Given the description of an element on the screen output the (x, y) to click on. 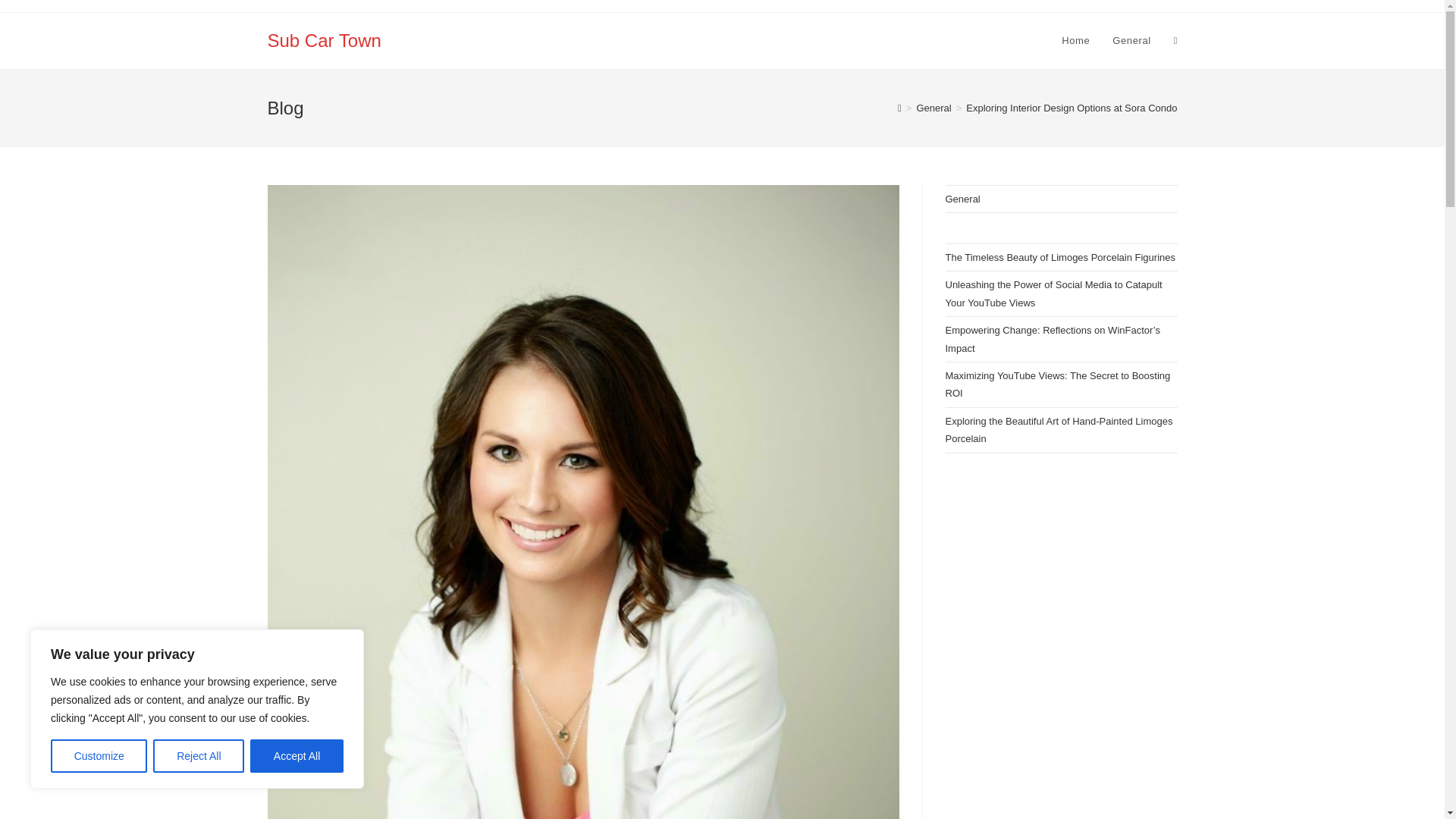
Sub Car Town (323, 40)
Customize (98, 756)
Accept All (296, 756)
General (932, 107)
Home (1074, 40)
Reject All (198, 756)
Exploring Interior Design Options at Sora Condo (1071, 107)
General (1130, 40)
